Given the description of an element on the screen output the (x, y) to click on. 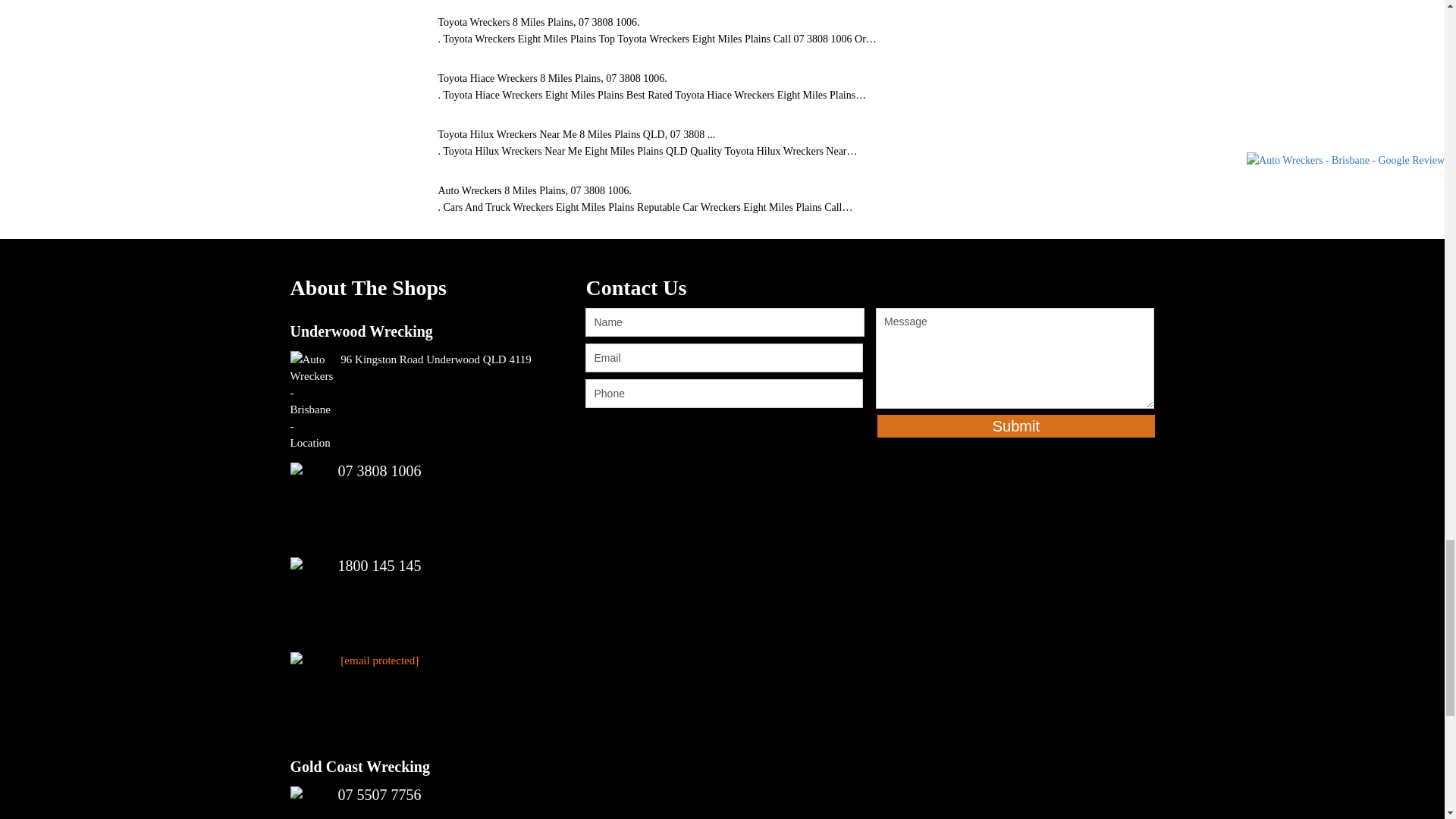
Phone (723, 393)
Email (723, 357)
Name (724, 321)
Submit (1015, 425)
